Given the description of an element on the screen output the (x, y) to click on. 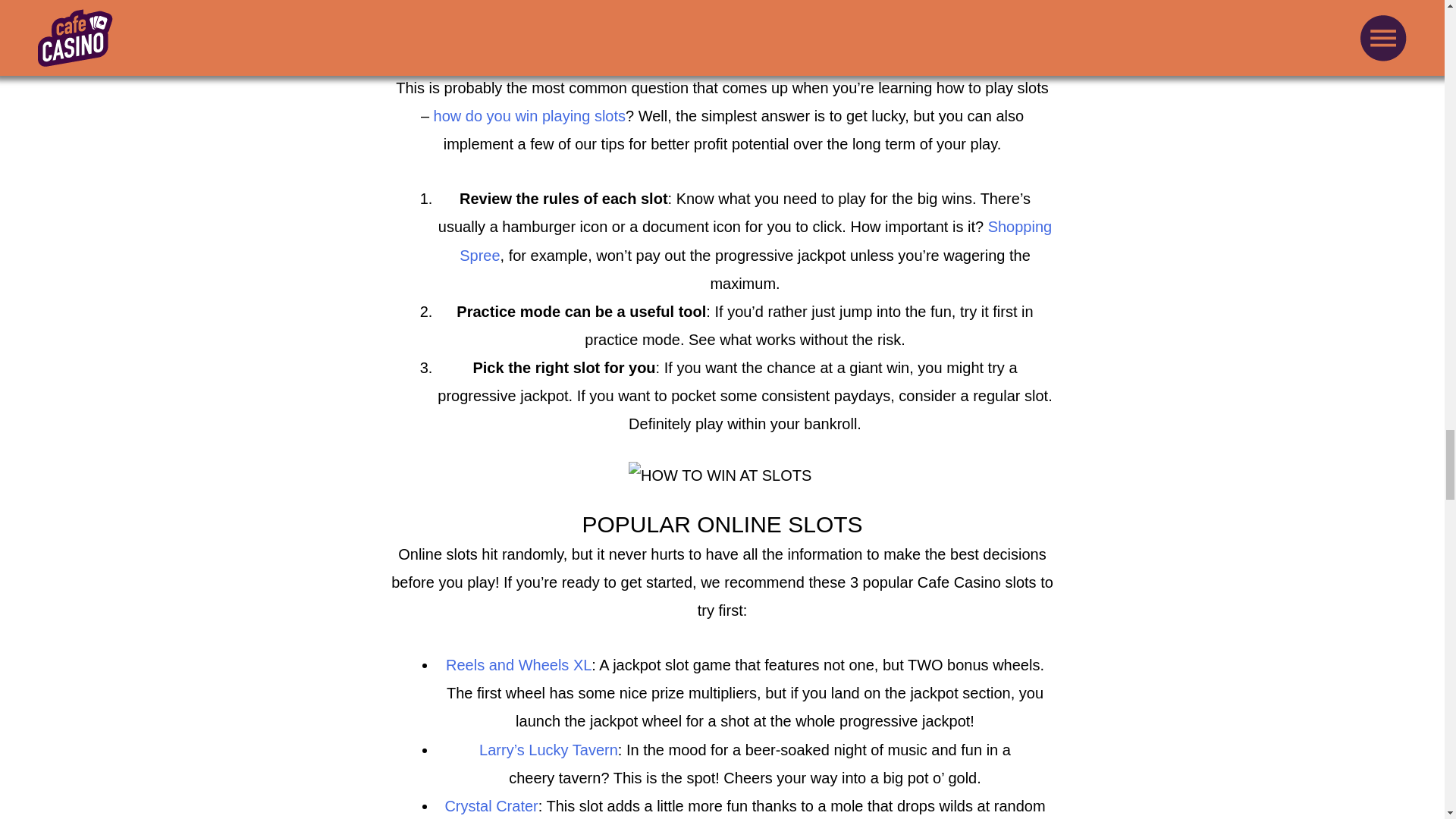
Shopping Spree (755, 240)
how do you win playing slots (529, 115)
Reels and Wheels XL (518, 664)
Crystal Crater (490, 805)
